Given the description of an element on the screen output the (x, y) to click on. 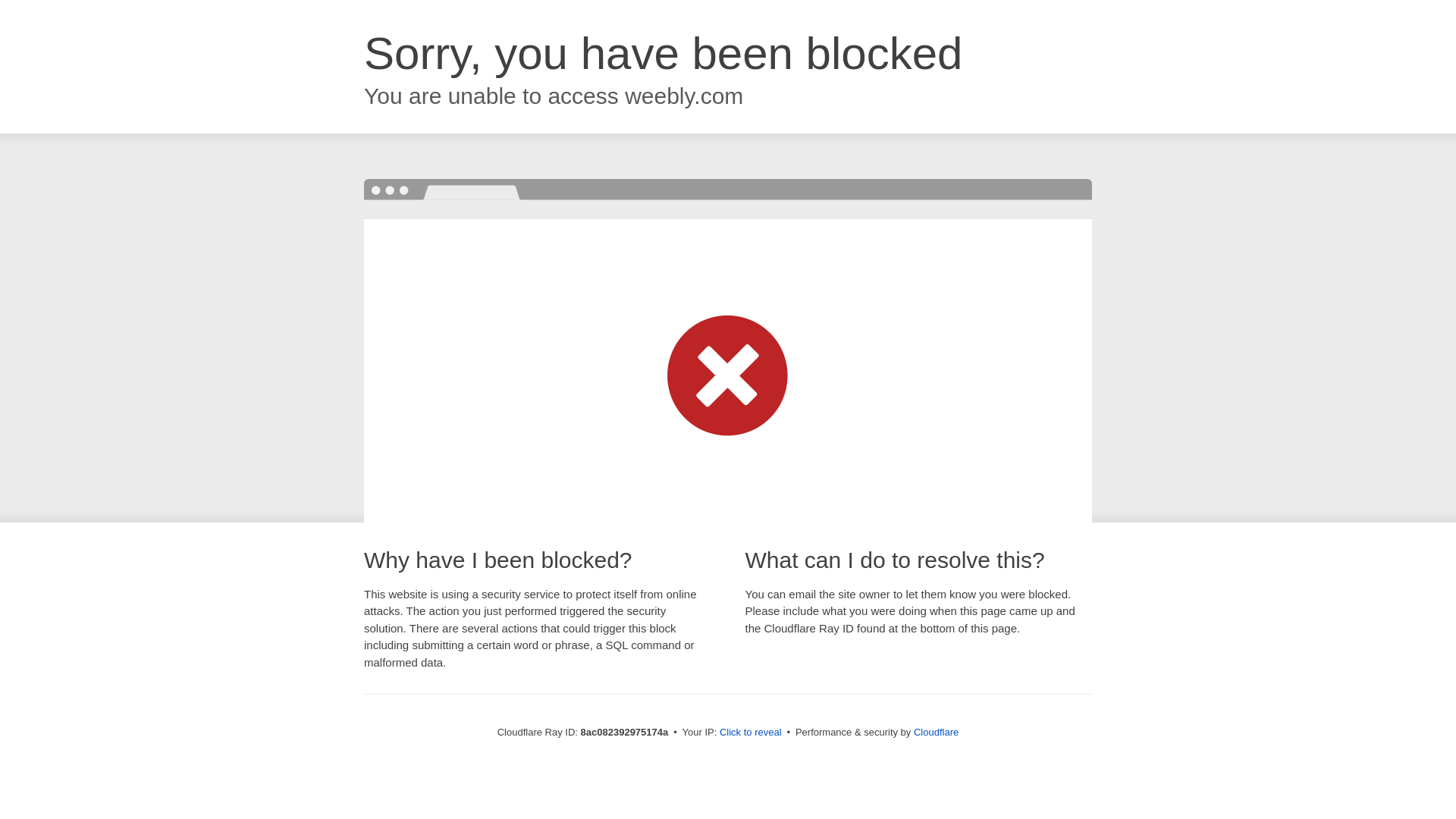
Cloudflare (936, 731)
Click to reveal (750, 732)
